Given the description of an element on the screen output the (x, y) to click on. 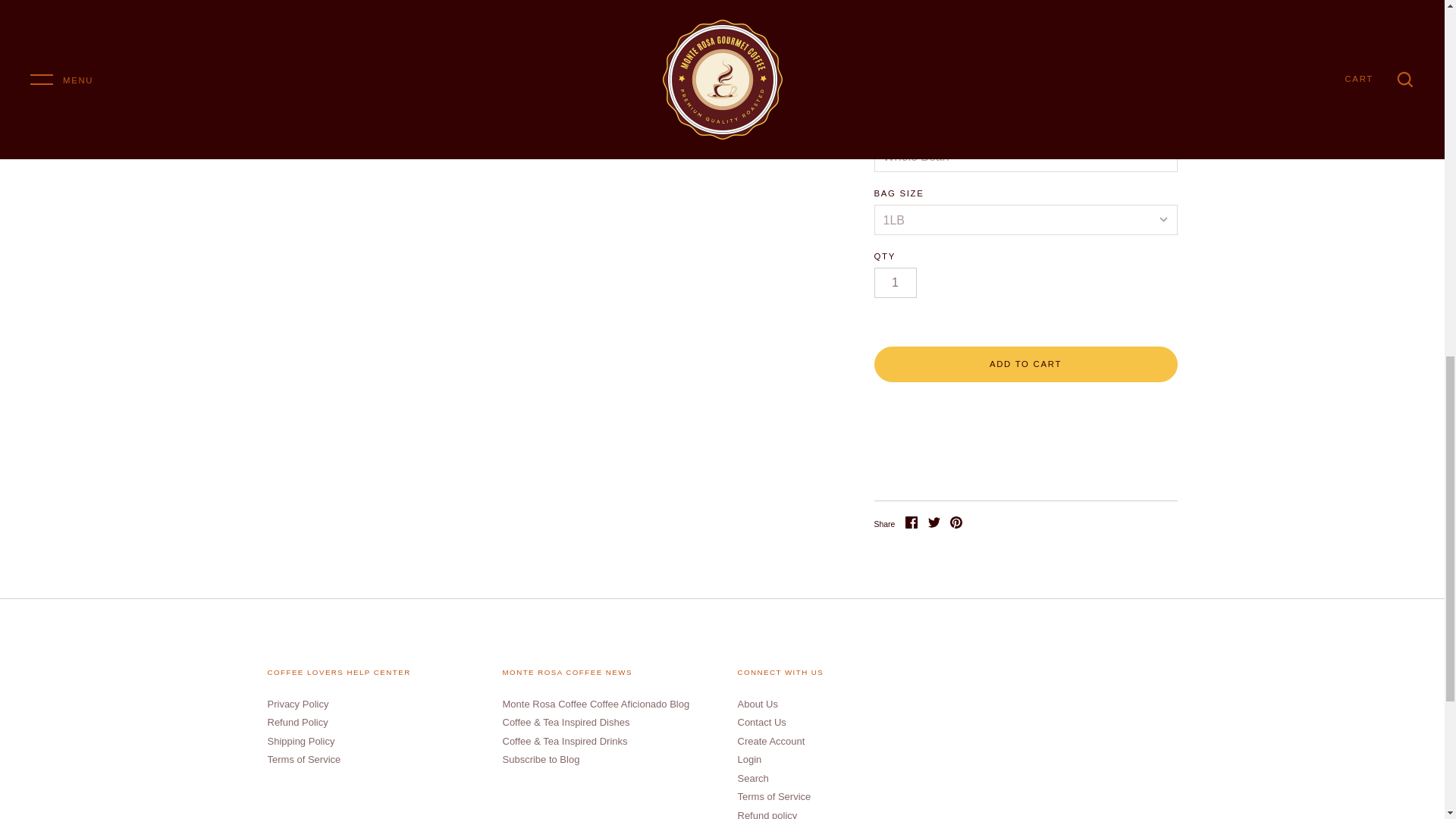
Twitter (934, 522)
Pinterest (956, 522)
1 (894, 282)
Facebook (911, 522)
